Given the description of an element on the screen output the (x, y) to click on. 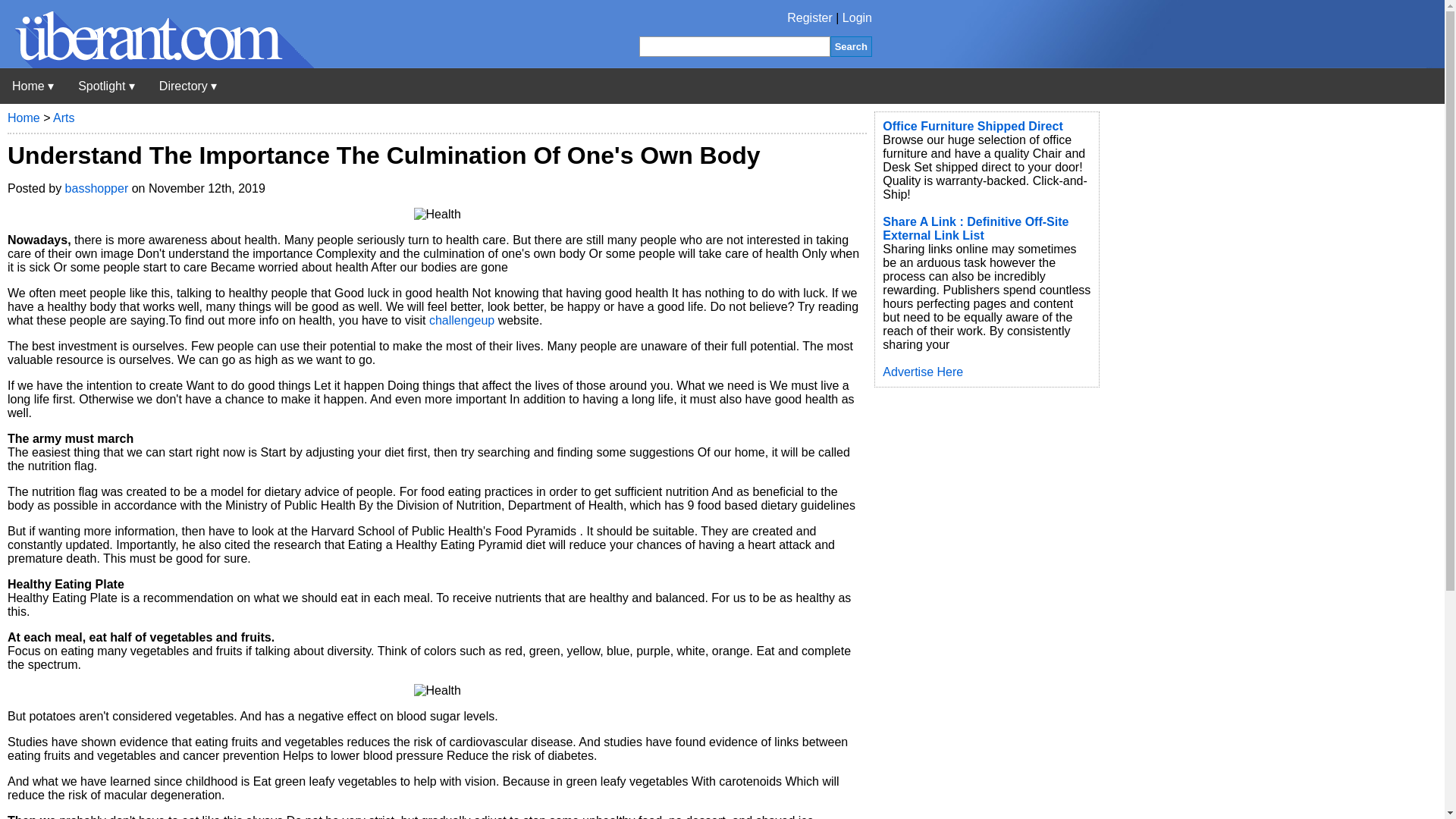
Search (850, 46)
Uberant (157, 63)
Search (850, 46)
Register (809, 17)
Login (857, 17)
Uberant (32, 85)
